Given the description of an element on the screen output the (x, y) to click on. 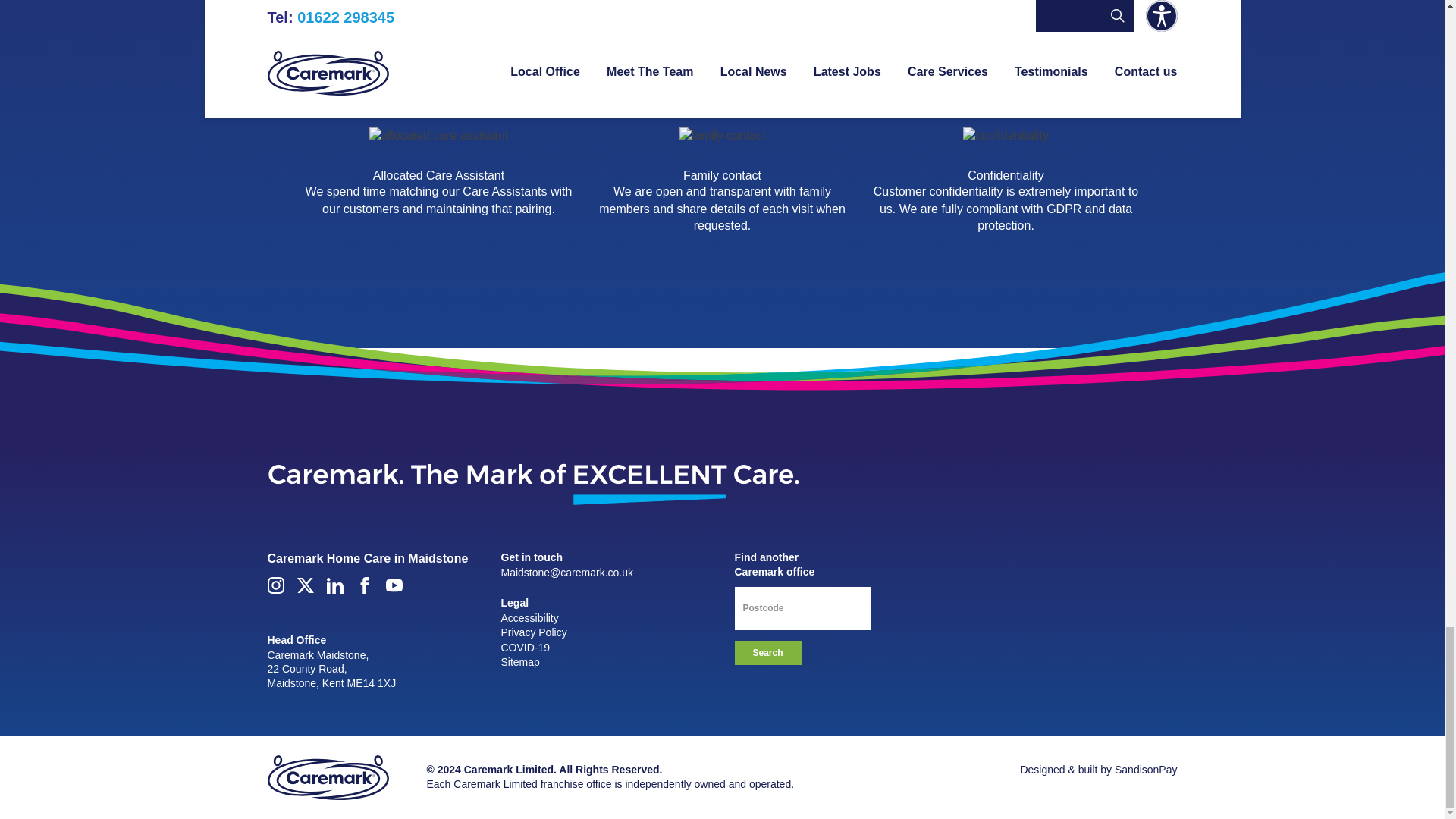
Facebook (364, 585)
Search (766, 652)
YouTube (393, 585)
LinkedIn (334, 585)
COVID-19 (525, 647)
Sitemap (519, 662)
Accessibility (528, 617)
Instagram (274, 585)
Privacy Policy (533, 632)
Twitter-X (305, 585)
Search (766, 652)
SandisonPay (1146, 769)
